Given the description of an element on the screen output the (x, y) to click on. 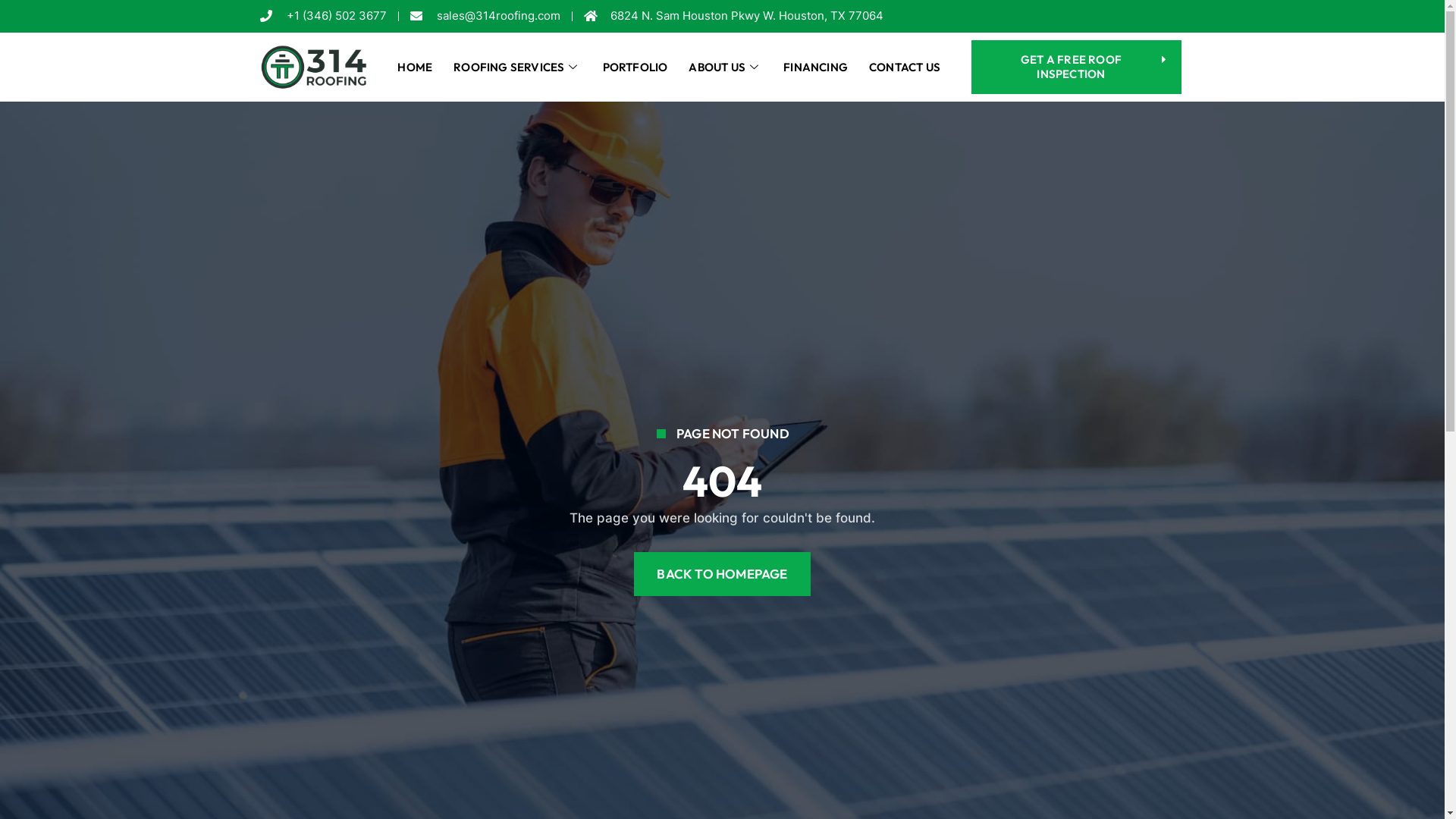
CONTACT US Element type: text (904, 67)
+1 (346) 502 3677 Element type: text (322, 16)
HOME Element type: text (414, 67)
FINANCING Element type: text (815, 67)
PORTFOLIO Element type: text (635, 67)
ROOFING SERVICES Element type: text (516, 67)
ABOUT US Element type: text (725, 67)
BACK TO HOMEPAGE Element type: text (721, 574)
sales@314roofing.com Element type: text (484, 16)
GET A FREE ROOF INSPECTION Element type: text (1076, 66)
6824 N. Sam Houston Pkwy W. Houston, TX 77064 Element type: text (733, 16)
